Given the description of an element on the screen output the (x, y) to click on. 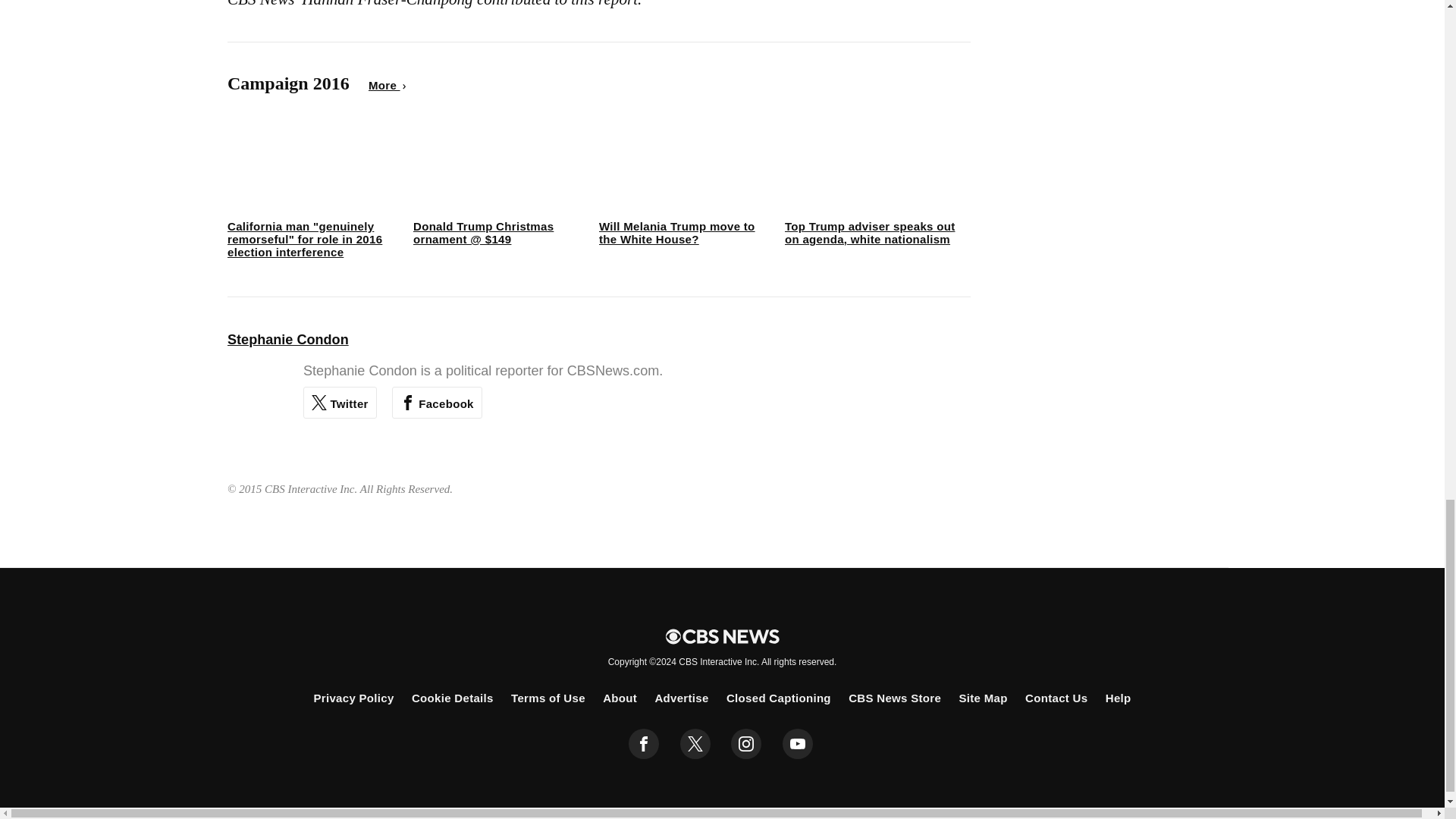
facebook (643, 743)
instagram (745, 743)
twitter (694, 743)
youtube (797, 743)
